Given the description of an element on the screen output the (x, y) to click on. 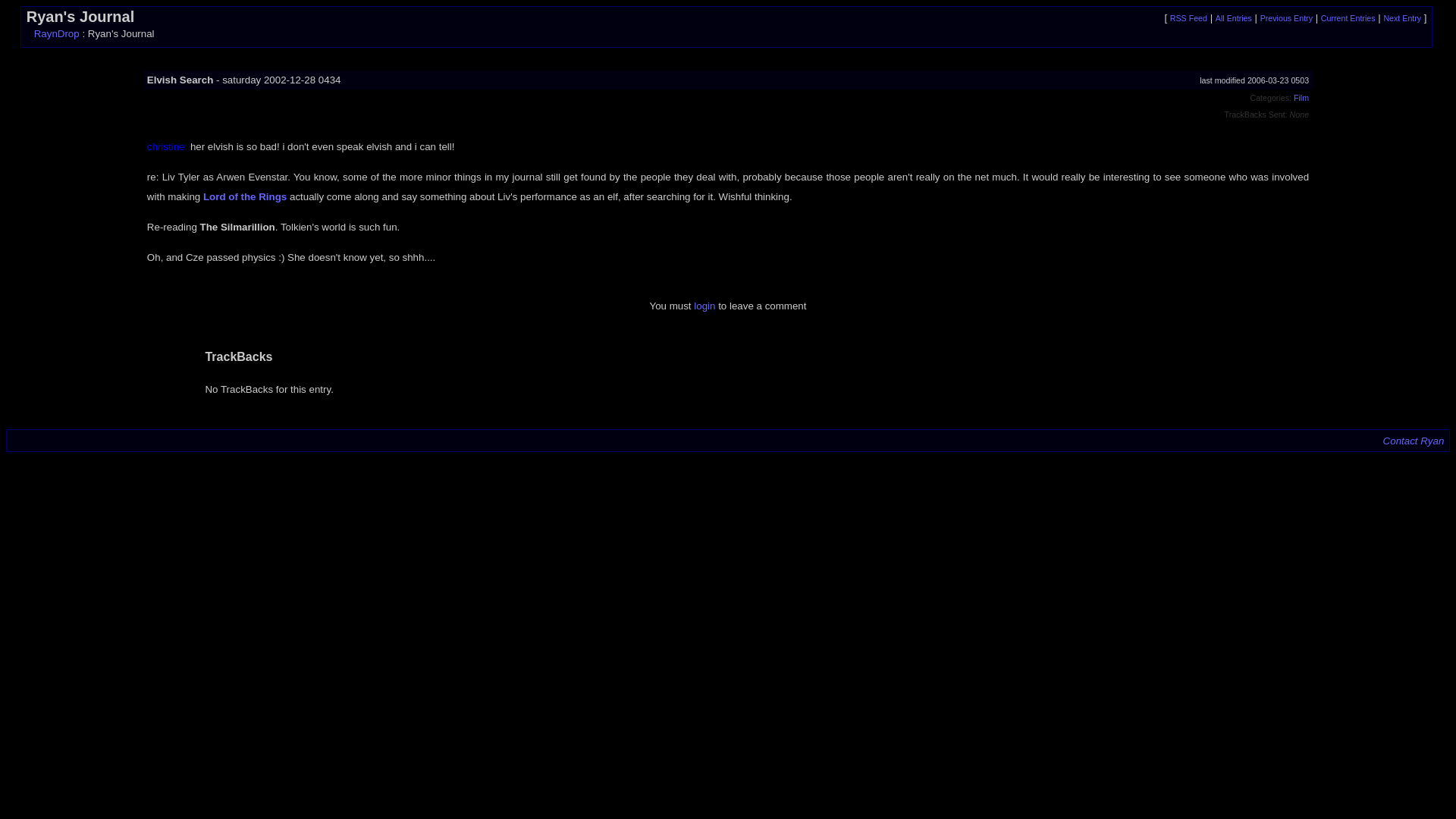
Lord of the Rings (244, 196)
RaynDrop (56, 33)
Previous Entry (1286, 17)
Film (1301, 97)
All Entries (1233, 17)
Next Entry (1402, 17)
RSS Feed (1188, 17)
login (704, 306)
Current Entries (1347, 17)
